Given the description of an element on the screen output the (x, y) to click on. 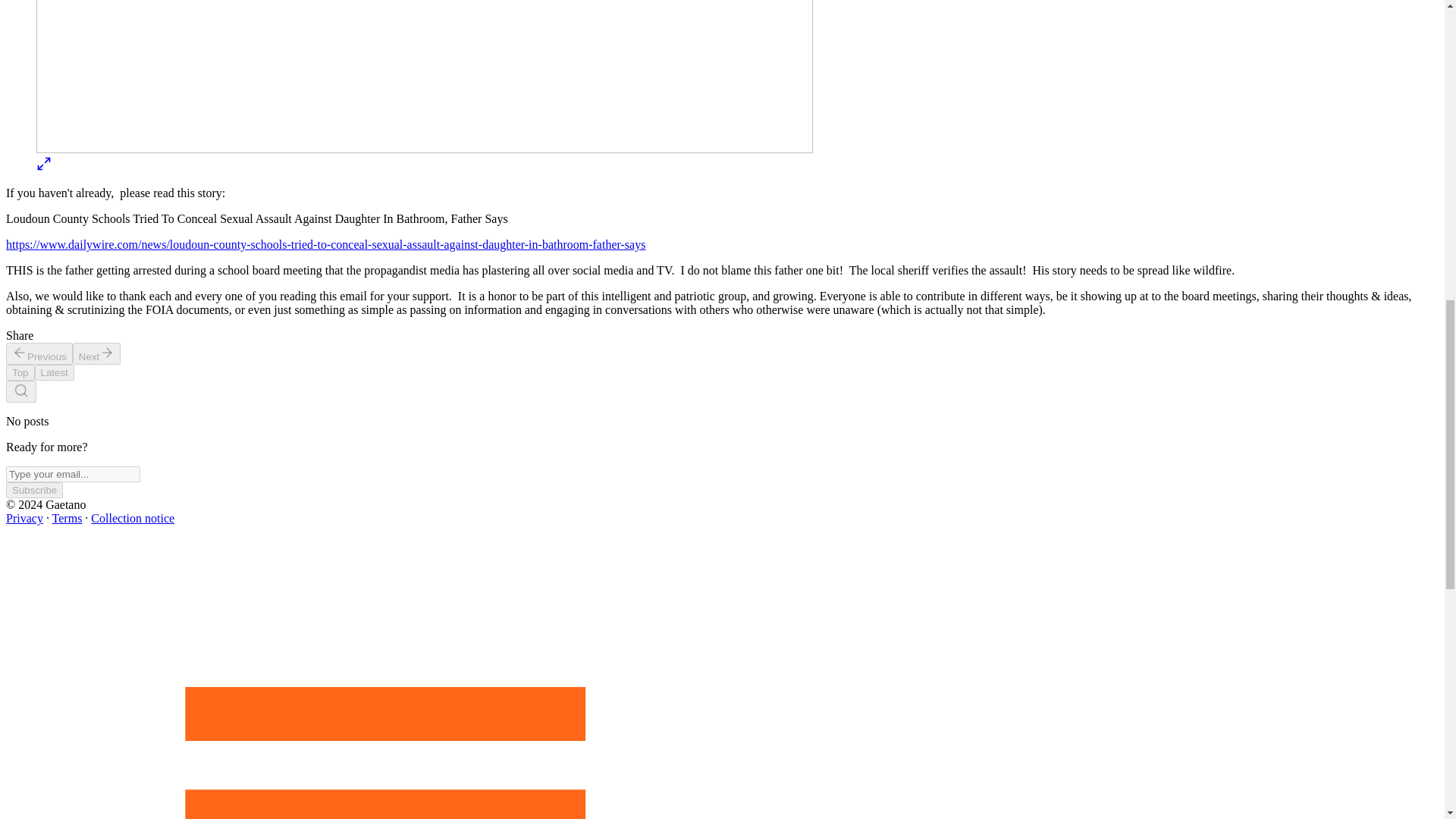
Collection notice (132, 517)
Previous (38, 353)
Latest (54, 372)
Terms (67, 517)
Next (96, 353)
Subscribe (33, 489)
Top (19, 372)
Privacy (24, 517)
